Given the description of an element on the screen output the (x, y) to click on. 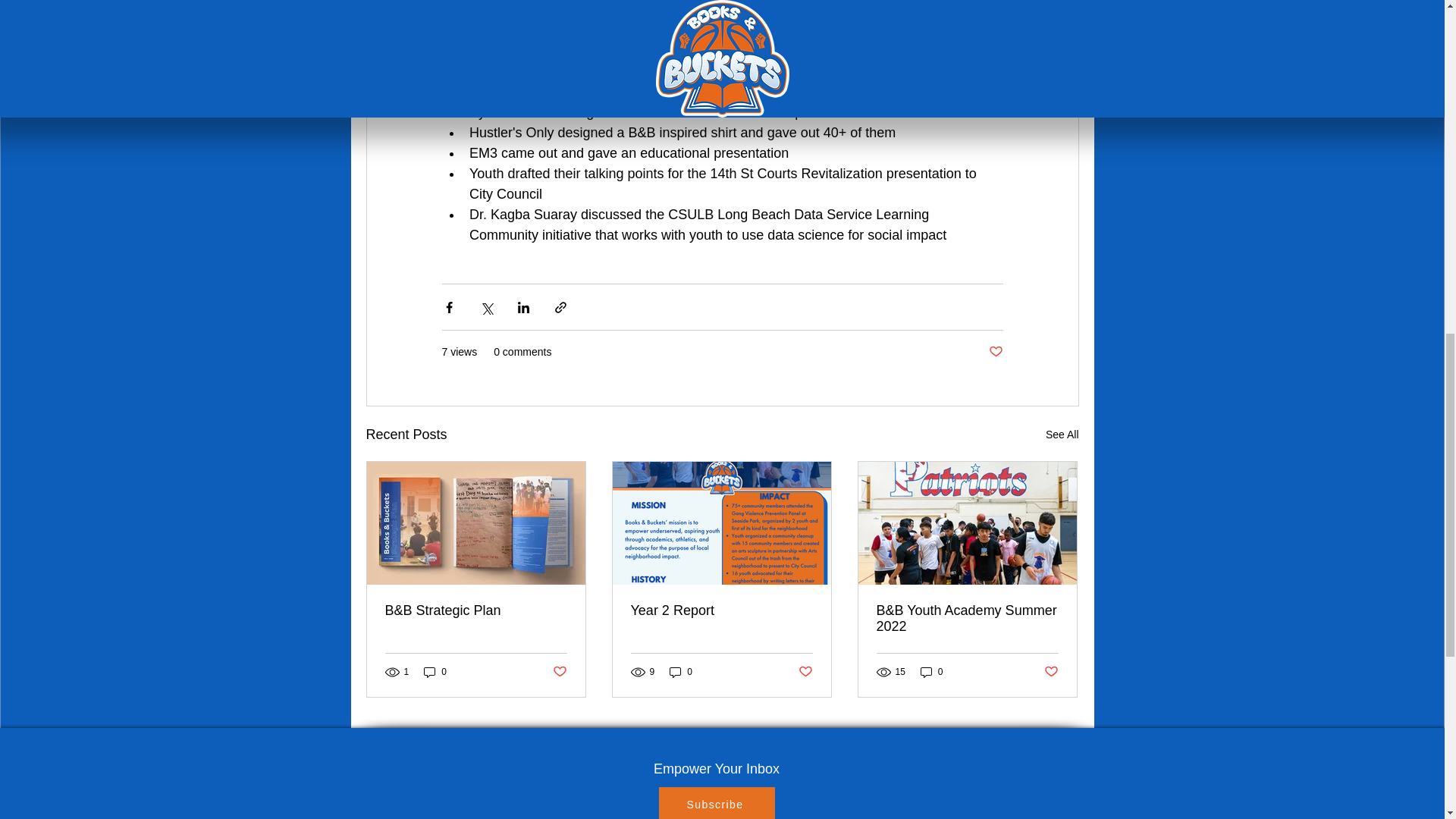
0 (931, 671)
See All (1061, 434)
Post not marked as liked (1050, 672)
Post not marked as liked (995, 351)
Subscribe (716, 803)
Post not marked as liked (558, 672)
0 (435, 671)
Post not marked as liked (804, 672)
Year 2 Report (721, 610)
0 (681, 671)
